Given the description of an element on the screen output the (x, y) to click on. 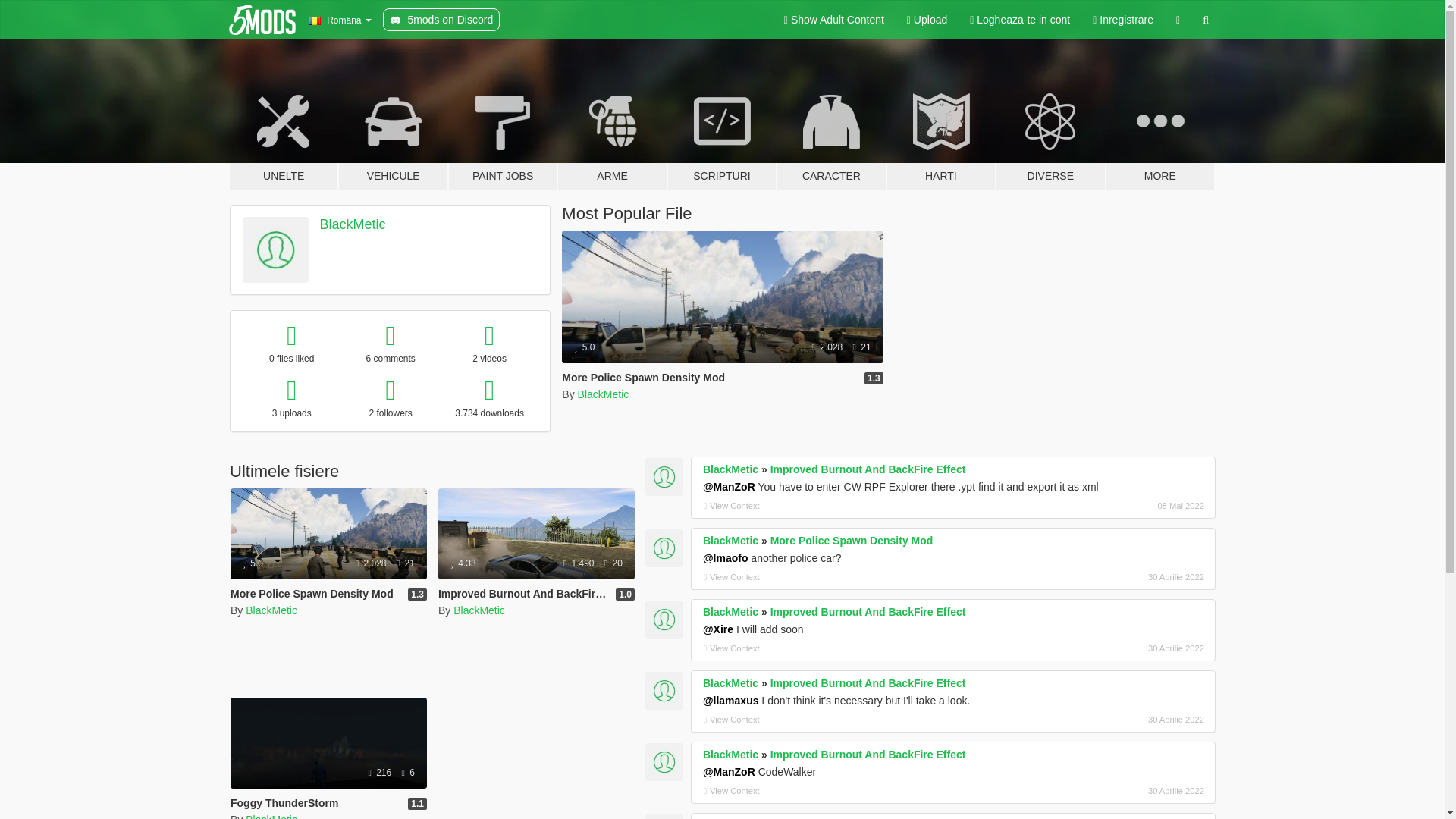
BlackMetic (271, 610)
BlackMetic (603, 394)
More Police Spawn Density Mod (311, 593)
More Police Spawn Density Mod (643, 377)
5.0 star rating (583, 347)
Light mode (834, 19)
1.3 (873, 378)
Show Adult Content (834, 19)
Improved Burnout And BackFire Effect (536, 553)
Inregistrare (1122, 19)
